Given the description of an element on the screen output the (x, y) to click on. 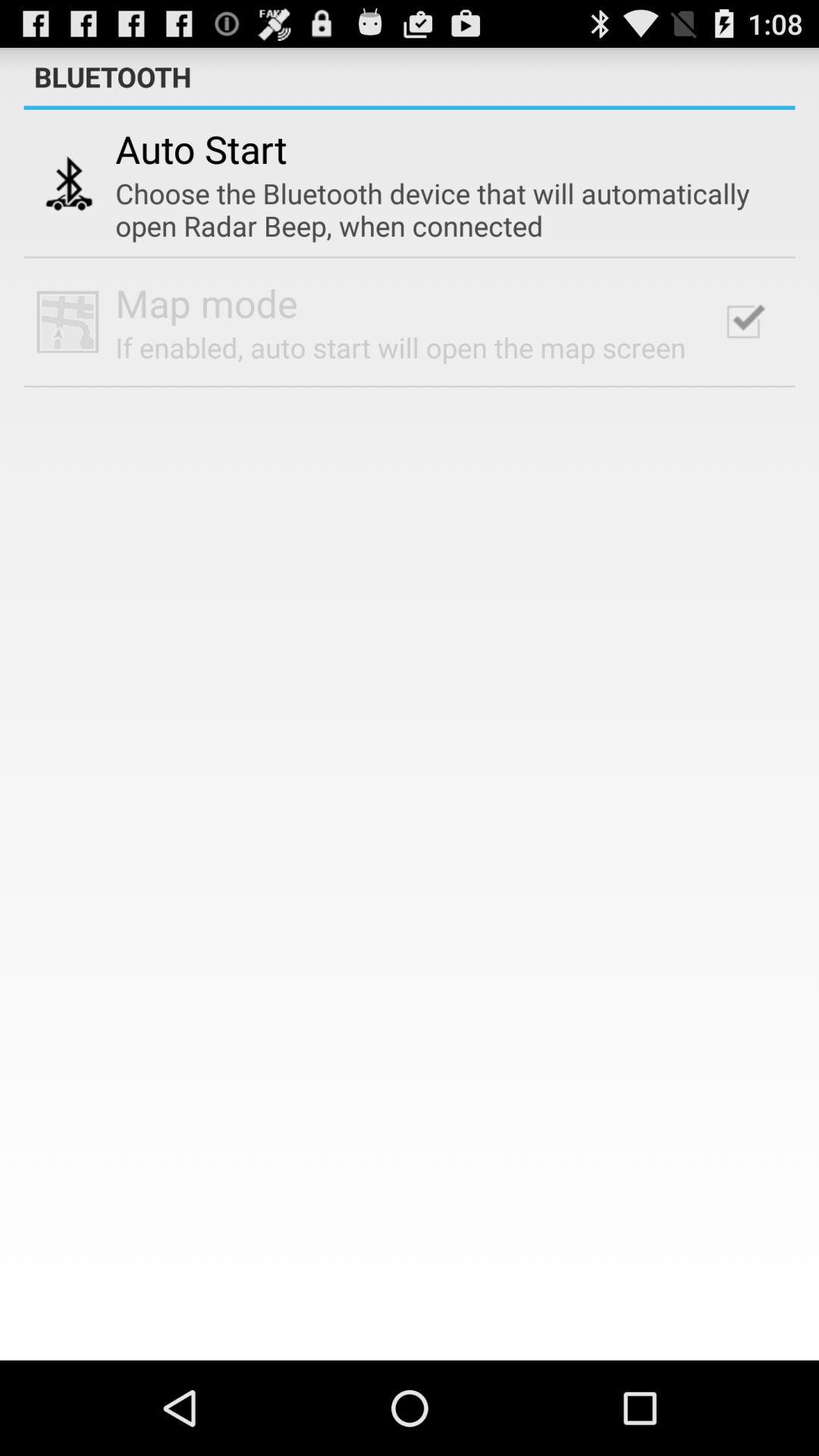
turn off the item next to the if enabled auto icon (743, 321)
